Given the description of an element on the screen output the (x, y) to click on. 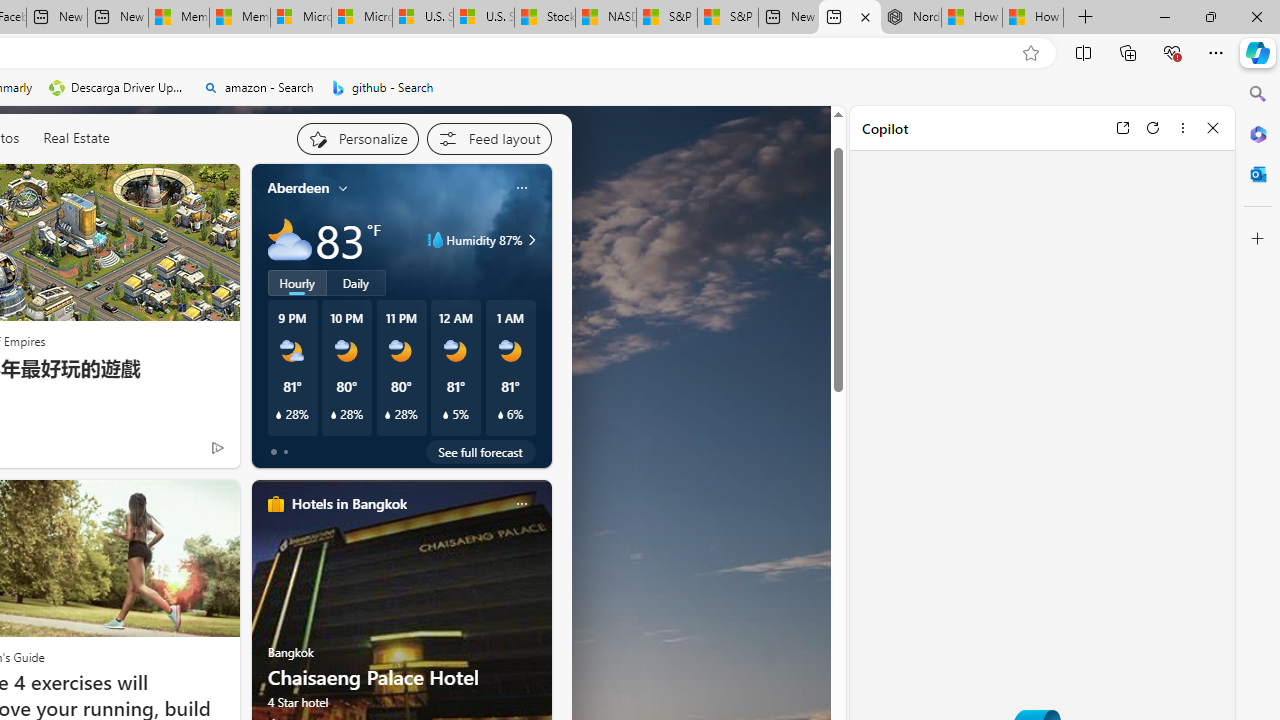
Customize (1258, 239)
See full forecast (480, 451)
Browser essentials (1171, 52)
hotels-header-icon (275, 503)
Search (1258, 94)
Daily (356, 282)
Real Estate (75, 138)
Class: weather-arrow-glyph (531, 240)
Feed settings (488, 138)
